Given the description of an element on the screen output the (x, y) to click on. 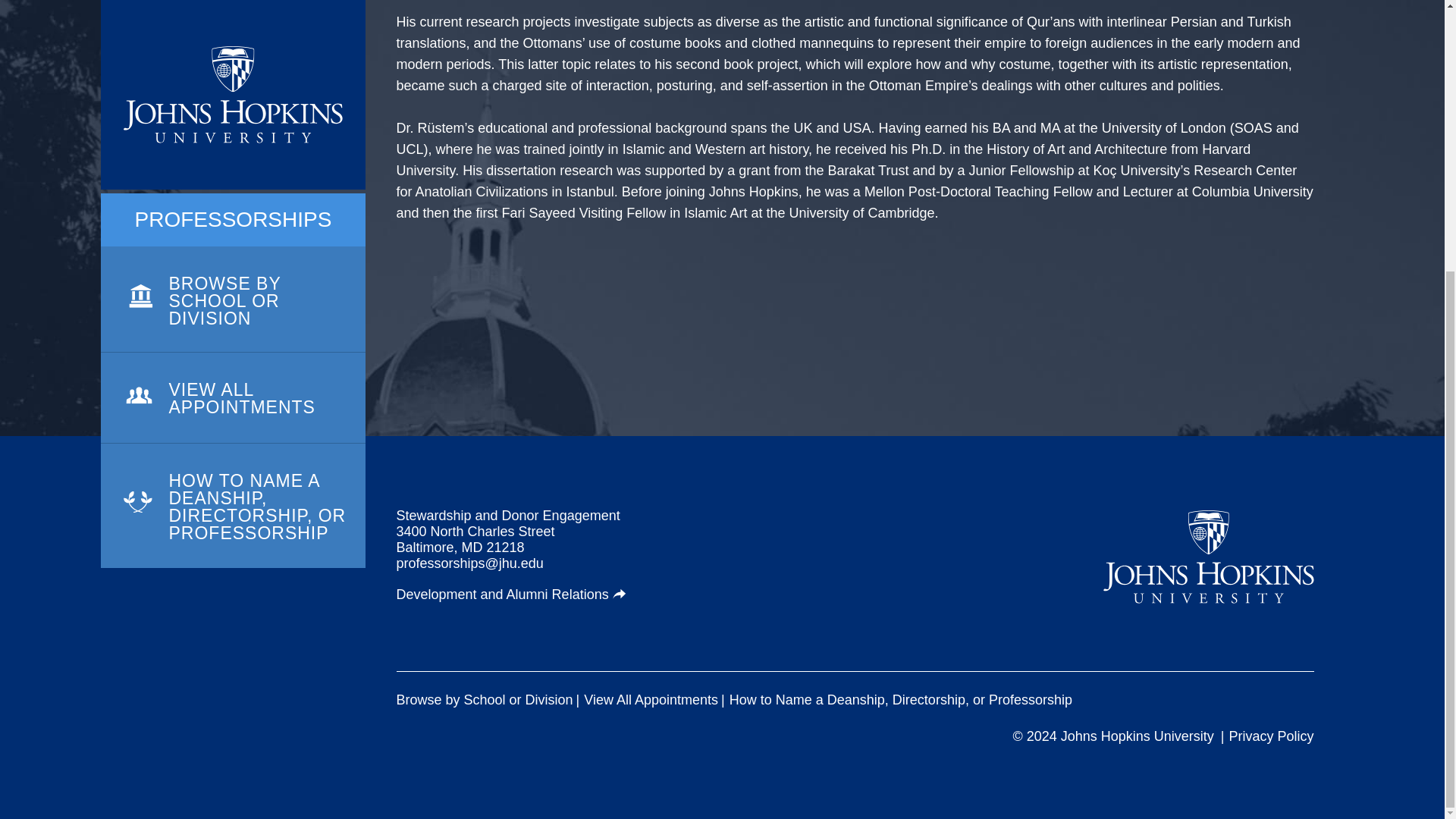
Privacy Policy (1270, 735)
Development and Alumni Relations (511, 594)
HOW TO NAME A DEANSHIP, DIRECTORSHIP, OR PROFESSORSHIP (232, 107)
Browse by School or Division (484, 699)
VIEW ALL APPOINTMENTS (232, 22)
JHU Professorships (1208, 556)
View All Appointments (650, 699)
How to Name a Deanship, Directorship, or Professorship (900, 699)
